Given the description of an element on the screen output the (x, y) to click on. 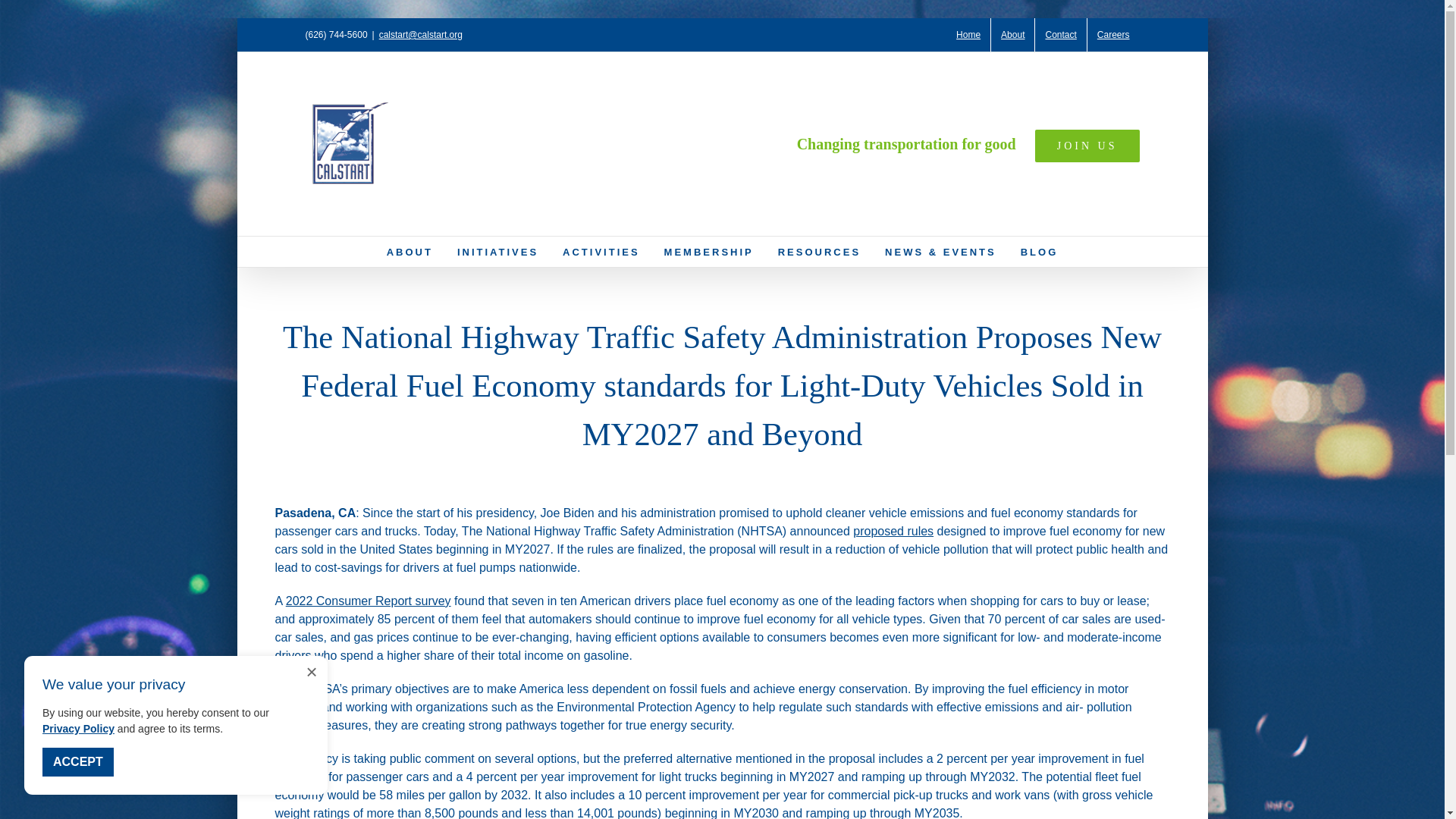
INITIATIVES (497, 251)
Contact (1060, 34)
Careers (1113, 34)
MEMBERSHIP (708, 251)
ABOUT (409, 251)
About (1012, 34)
ACTIVITIES (601, 251)
Home (968, 34)
JOIN US (1087, 145)
RESOURCES (818, 251)
